Given the description of an element on the screen output the (x, y) to click on. 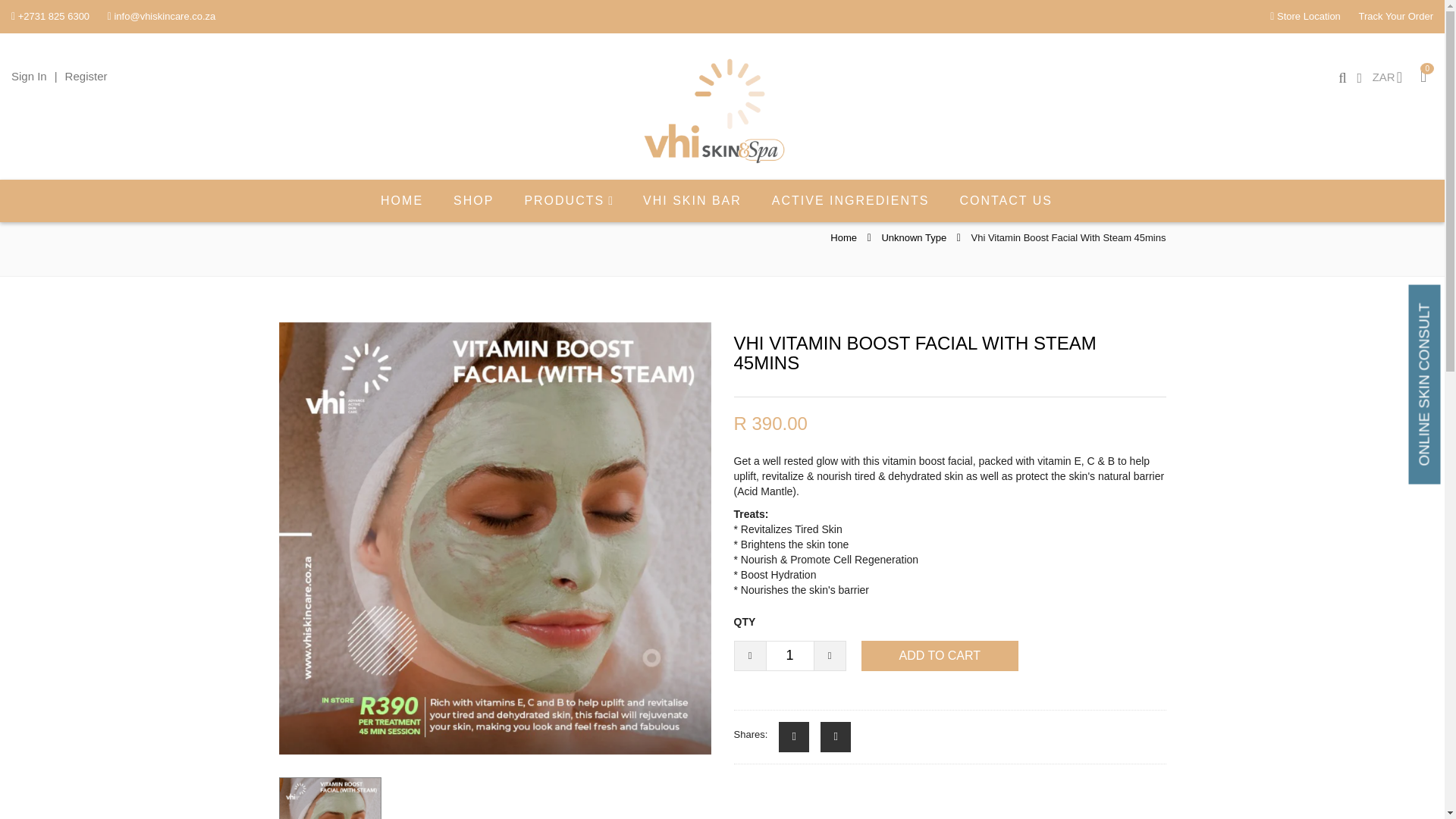
Quantity (788, 655)
Track Your Order (1395, 16)
Store Location (1308, 16)
1 (788, 655)
